Given the description of an element on the screen output the (x, y) to click on. 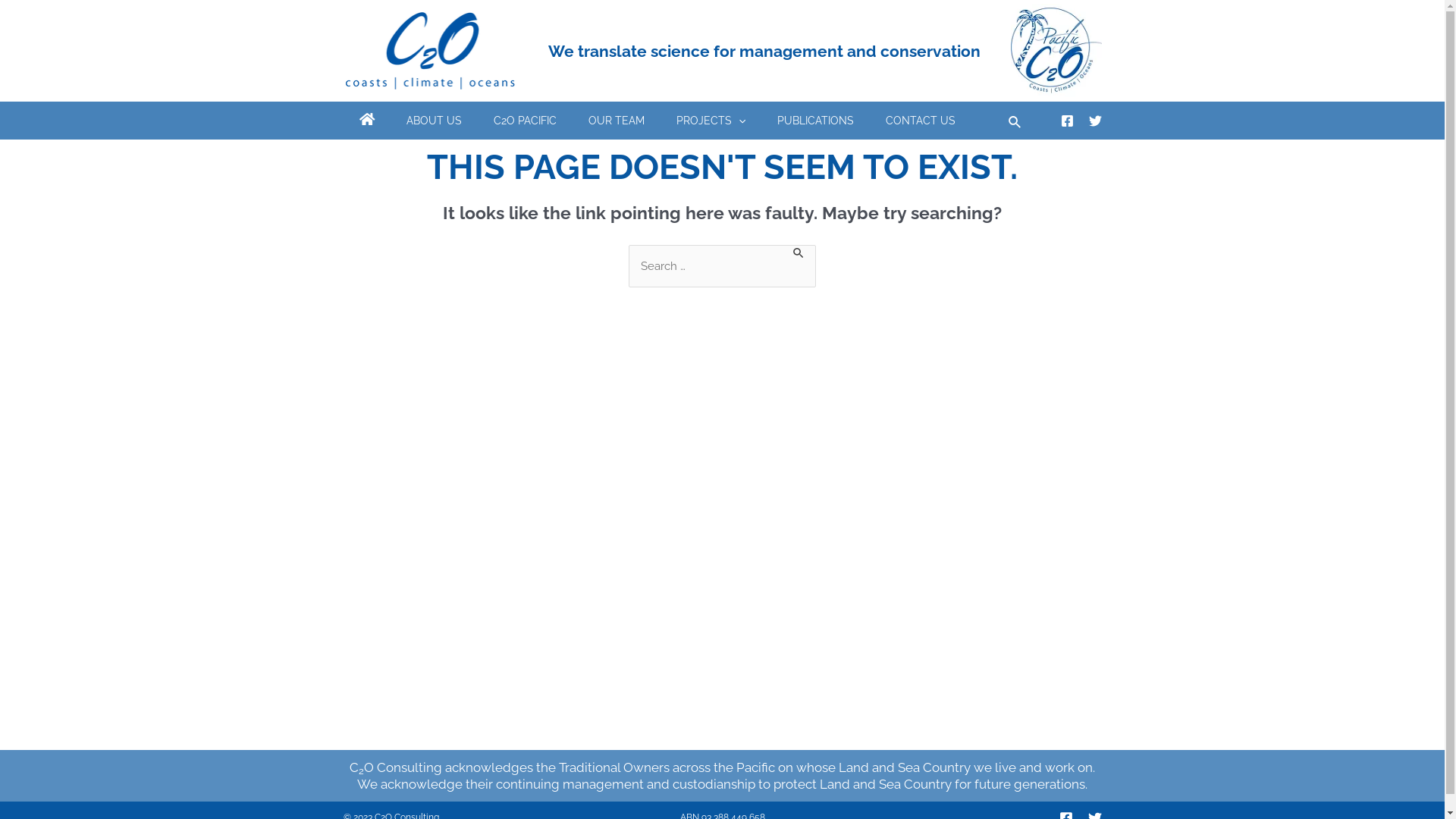
OUR TEAM Element type: text (615, 120)
PROJECTS Element type: text (709, 120)
CONTACT US Element type: text (920, 120)
Search Element type: text (1015, 119)
C2O PACIFIC Element type: text (524, 120)
PUBLICATIONS Element type: text (815, 120)
ABOUT US Element type: text (432, 120)
Search Element type: text (845, 260)
